Given the description of an element on the screen output the (x, y) to click on. 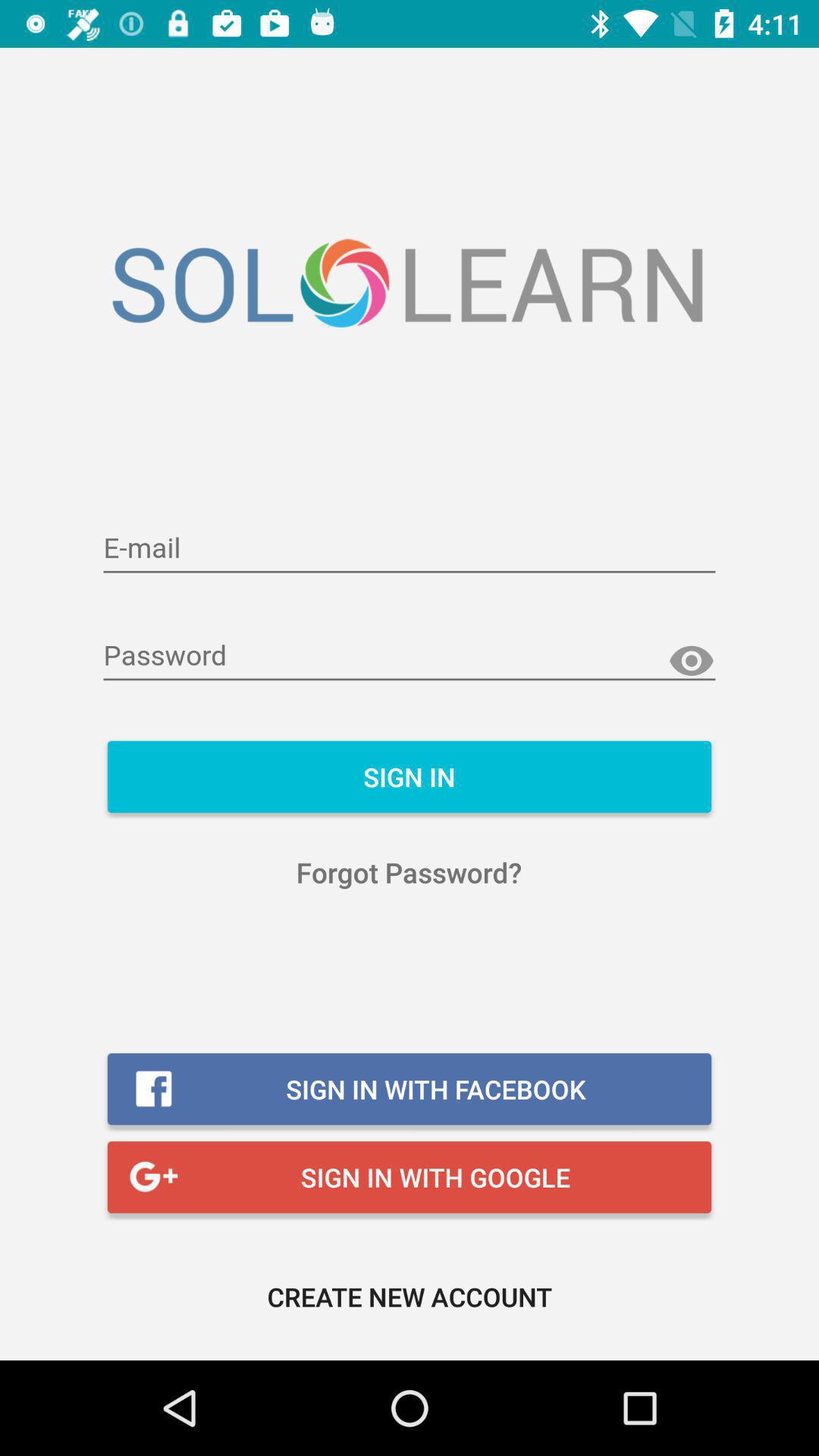
scroll to forgot password? item (409, 872)
